Given the description of an element on the screen output the (x, y) to click on. 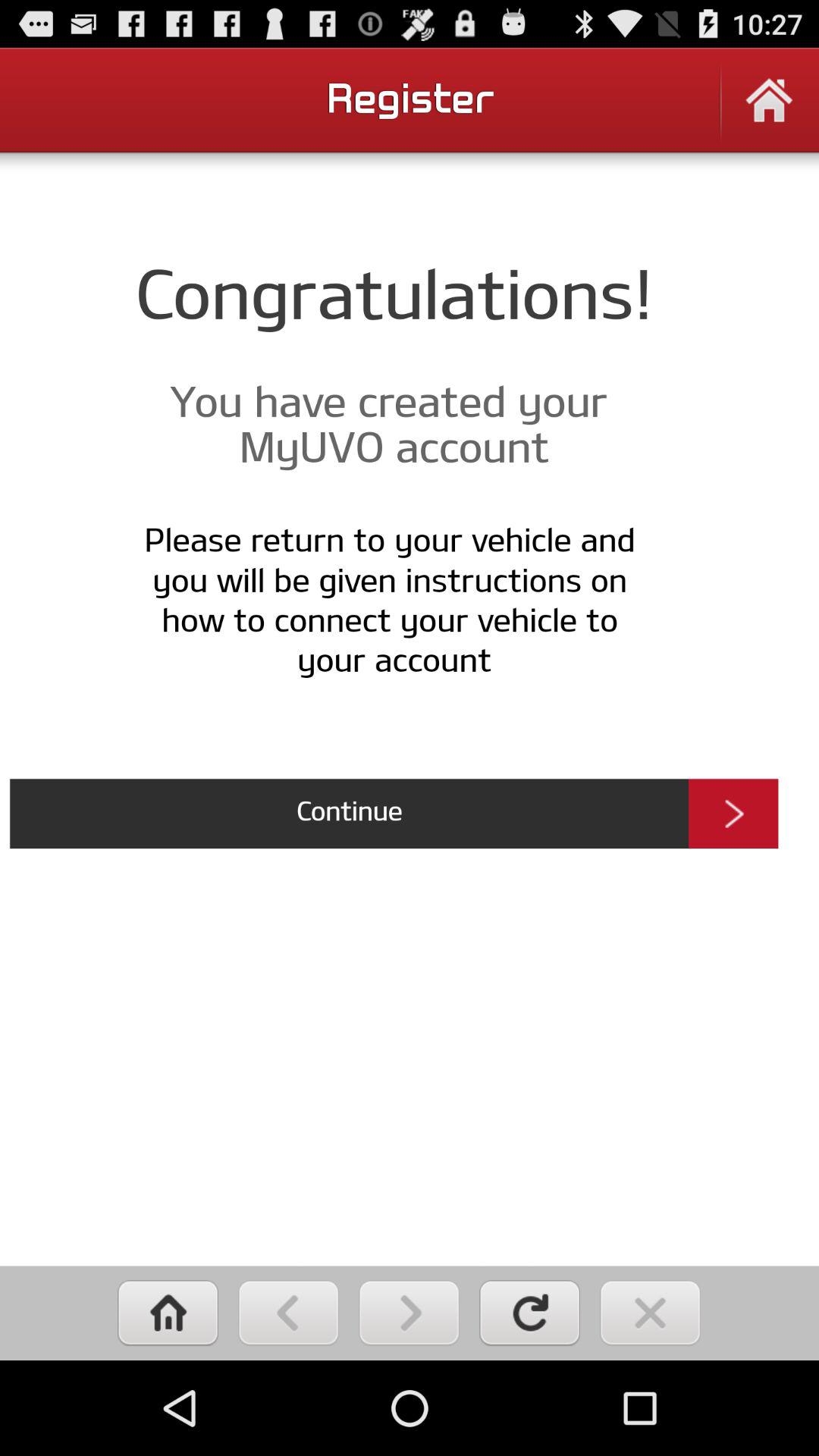
go forward (408, 1313)
